Given the description of an element on the screen output the (x, y) to click on. 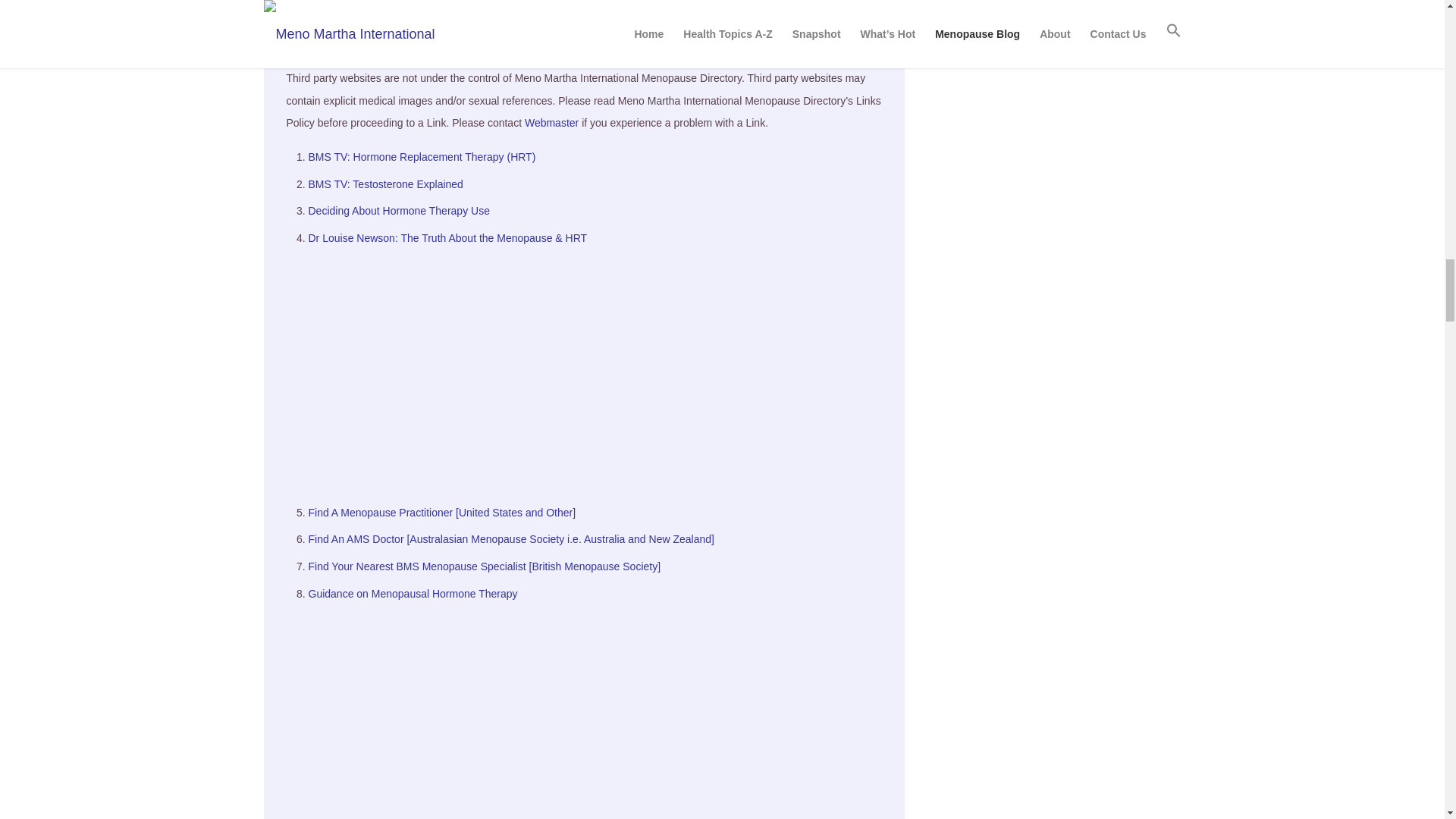
YouTube video player (597, 369)
Deciding About Hormone Therapy Use (398, 210)
YouTube video player (597, 712)
Guidance on Menopausal Hormone Therapy (411, 593)
BMS TV: Testosterone Explained (385, 184)
Webmaster (551, 122)
